Given the description of an element on the screen output the (x, y) to click on. 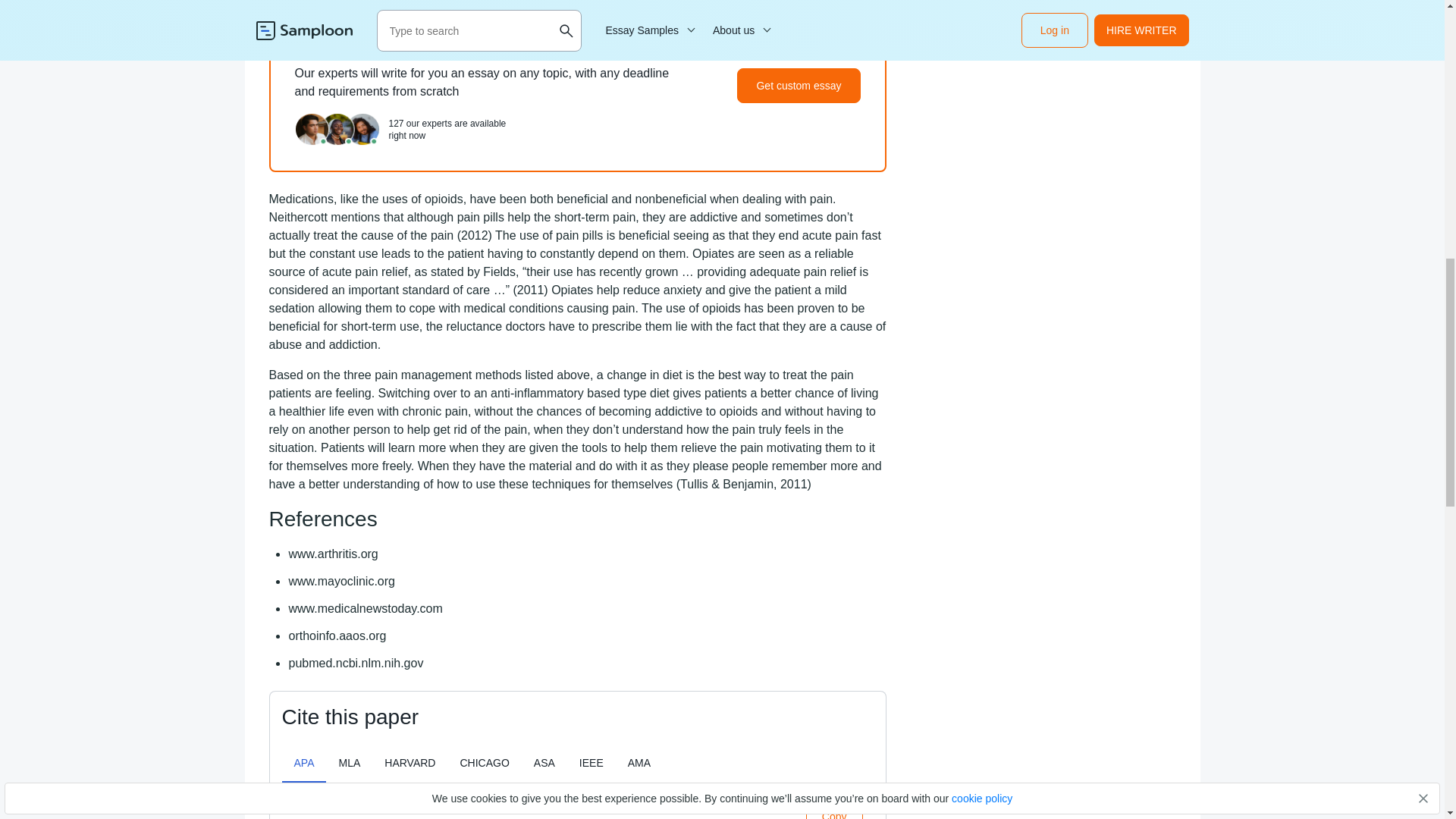
www.medicalnewstoday.com (366, 608)
orthoinfo.aaos.org (337, 635)
www.arthritis.org (333, 554)
www.mayoclinic.org (342, 581)
